Given the description of an element on the screen output the (x, y) to click on. 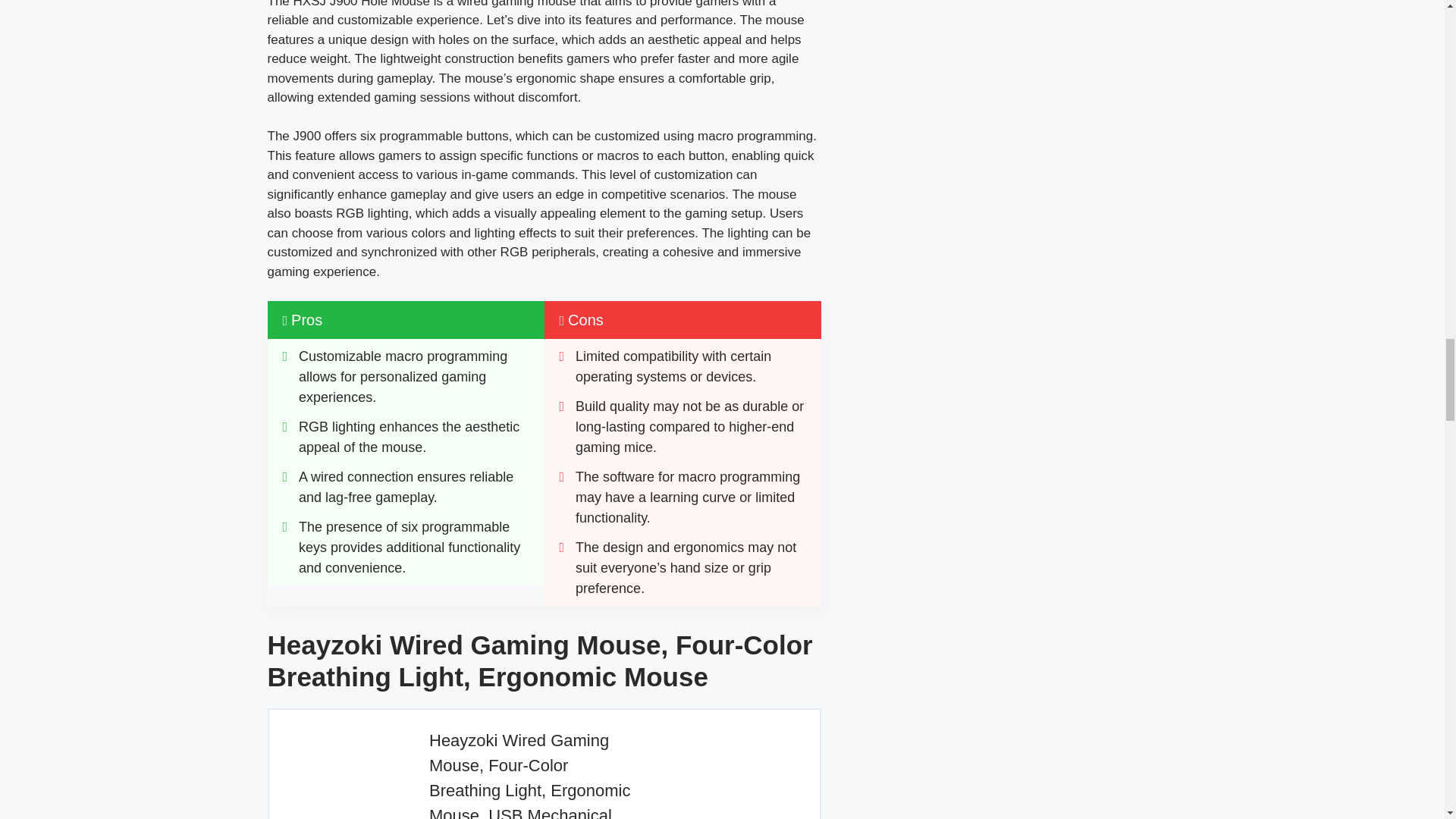
Best Mouses For Programming 4 (337, 775)
